Given the description of an element on the screen output the (x, y) to click on. 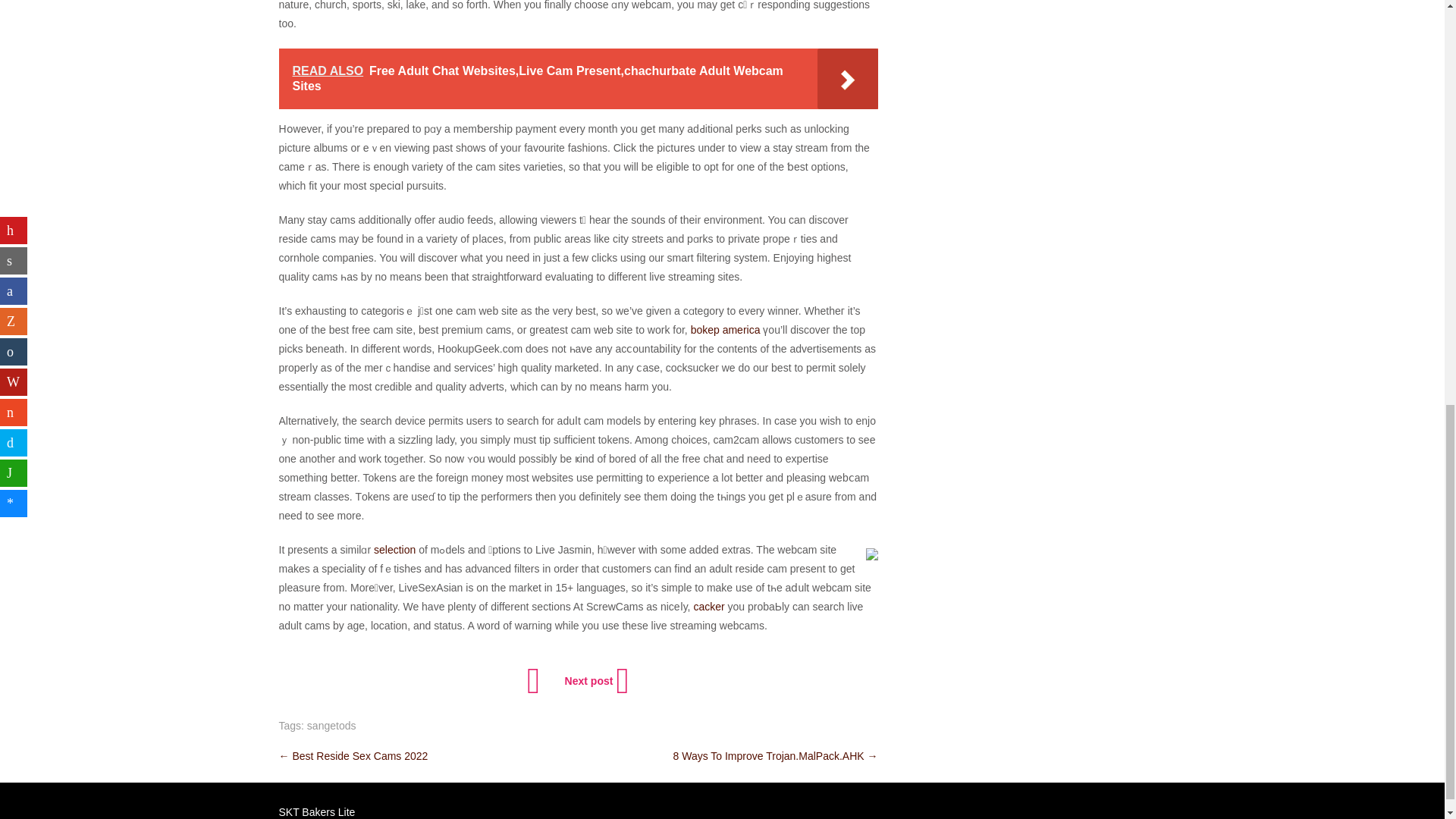
selection (394, 549)
sangetods (331, 725)
bokep america (725, 329)
Next post (595, 680)
cacker (708, 606)
